Given the description of an element on the screen output the (x, y) to click on. 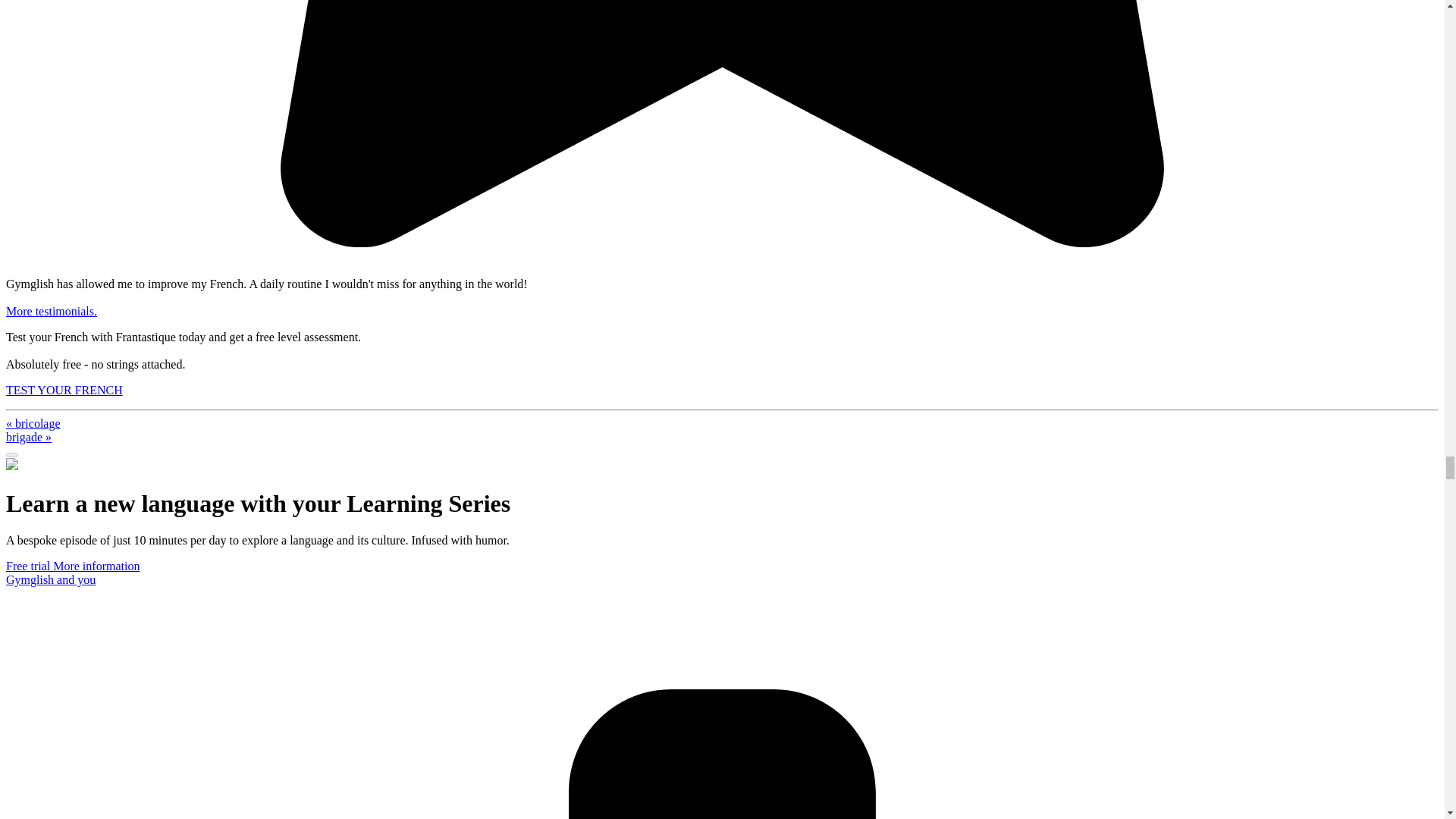
TEST YOUR FRENCH (63, 390)
More information (95, 565)
More testimonials. (51, 310)
Free trial (28, 565)
